Given the description of an element on the screen output the (x, y) to click on. 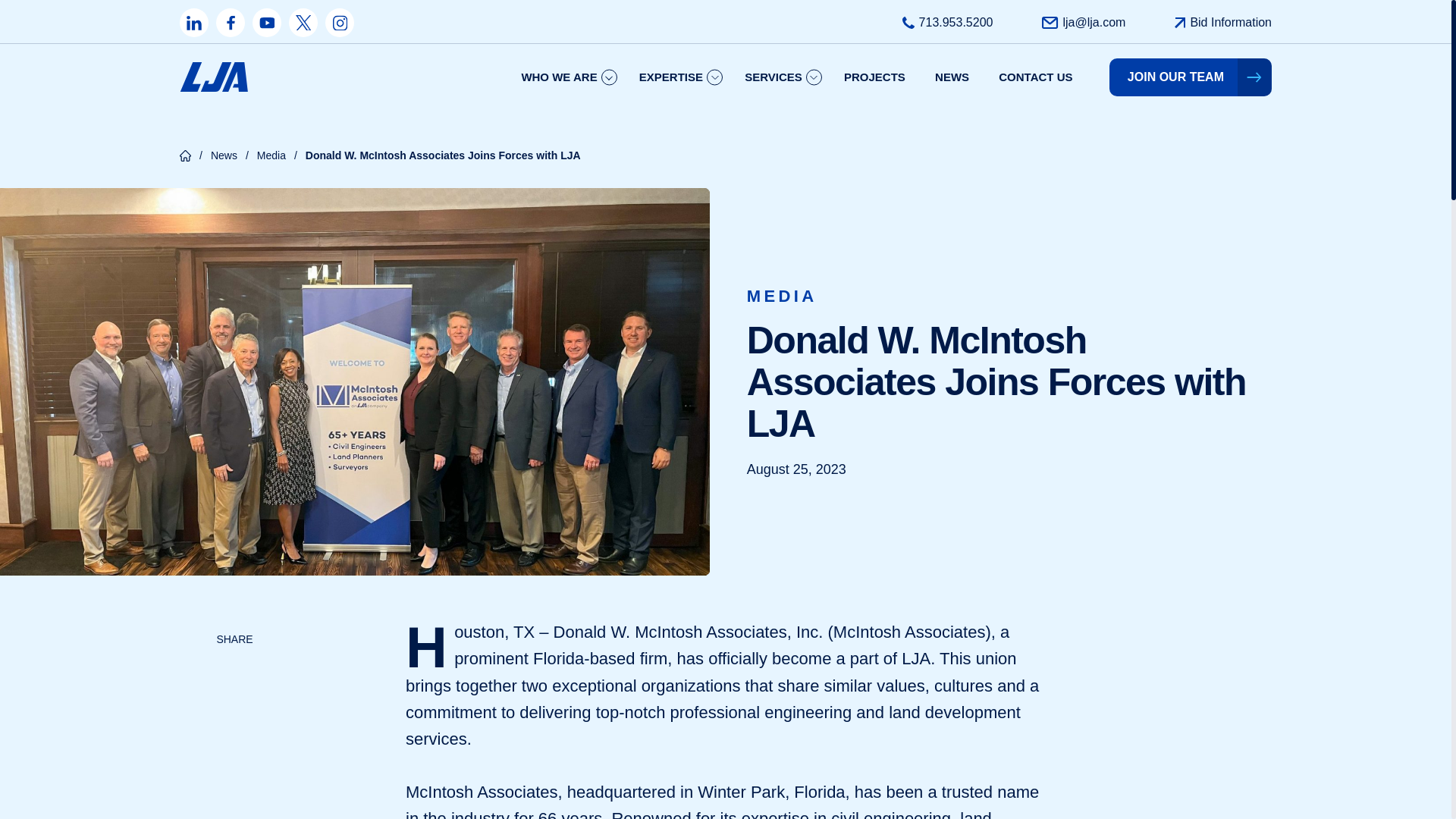
WHO WE ARE (564, 77)
Go to Home. (184, 154)
Go to the Media category archives. (271, 155)
713.953.5200 (955, 22)
Go to News. (224, 155)
Bid Information (1230, 22)
